Given the description of an element on the screen output the (x, y) to click on. 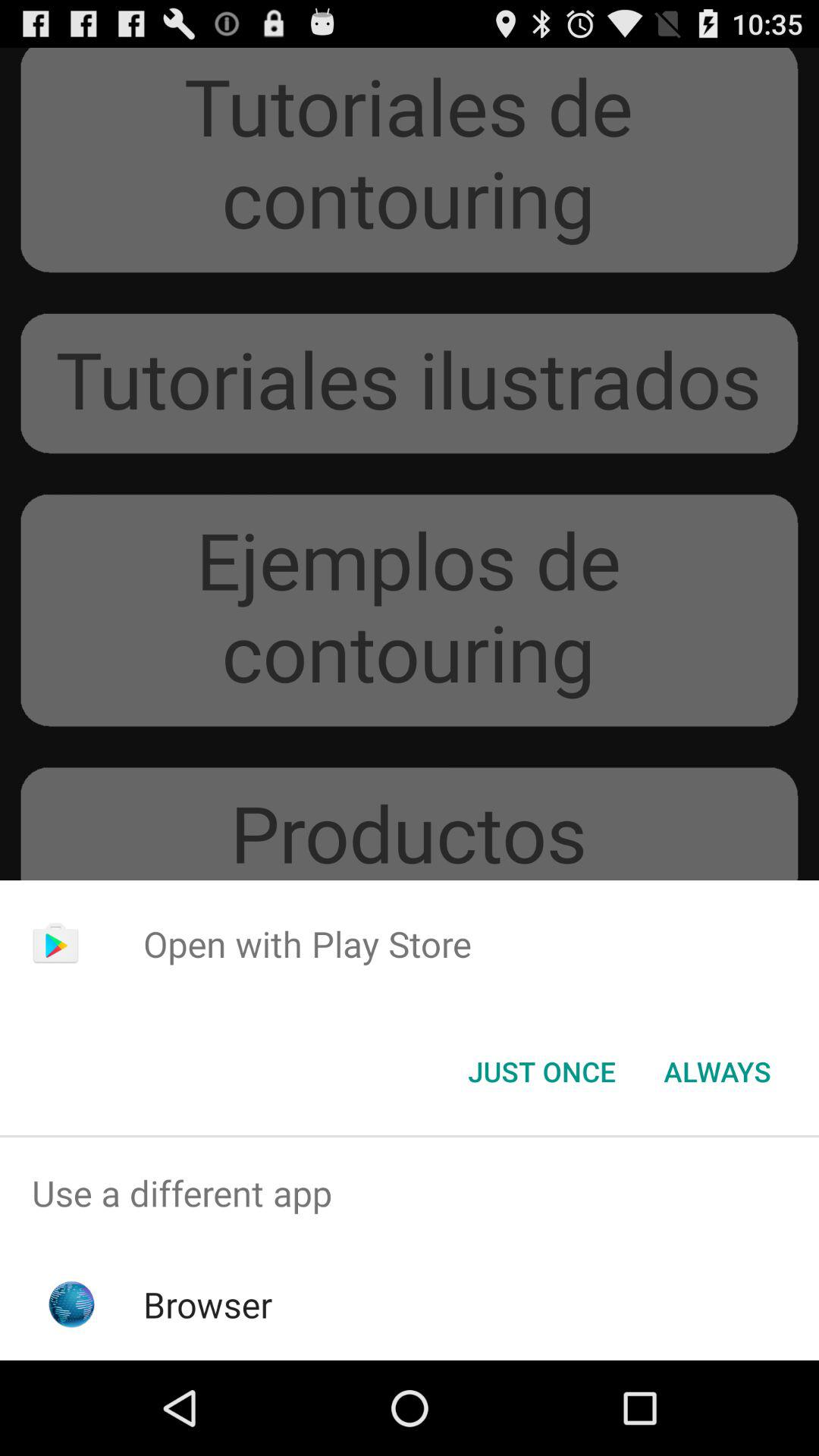
choose item below the open with play (541, 1071)
